Given the description of an element on the screen output the (x, y) to click on. 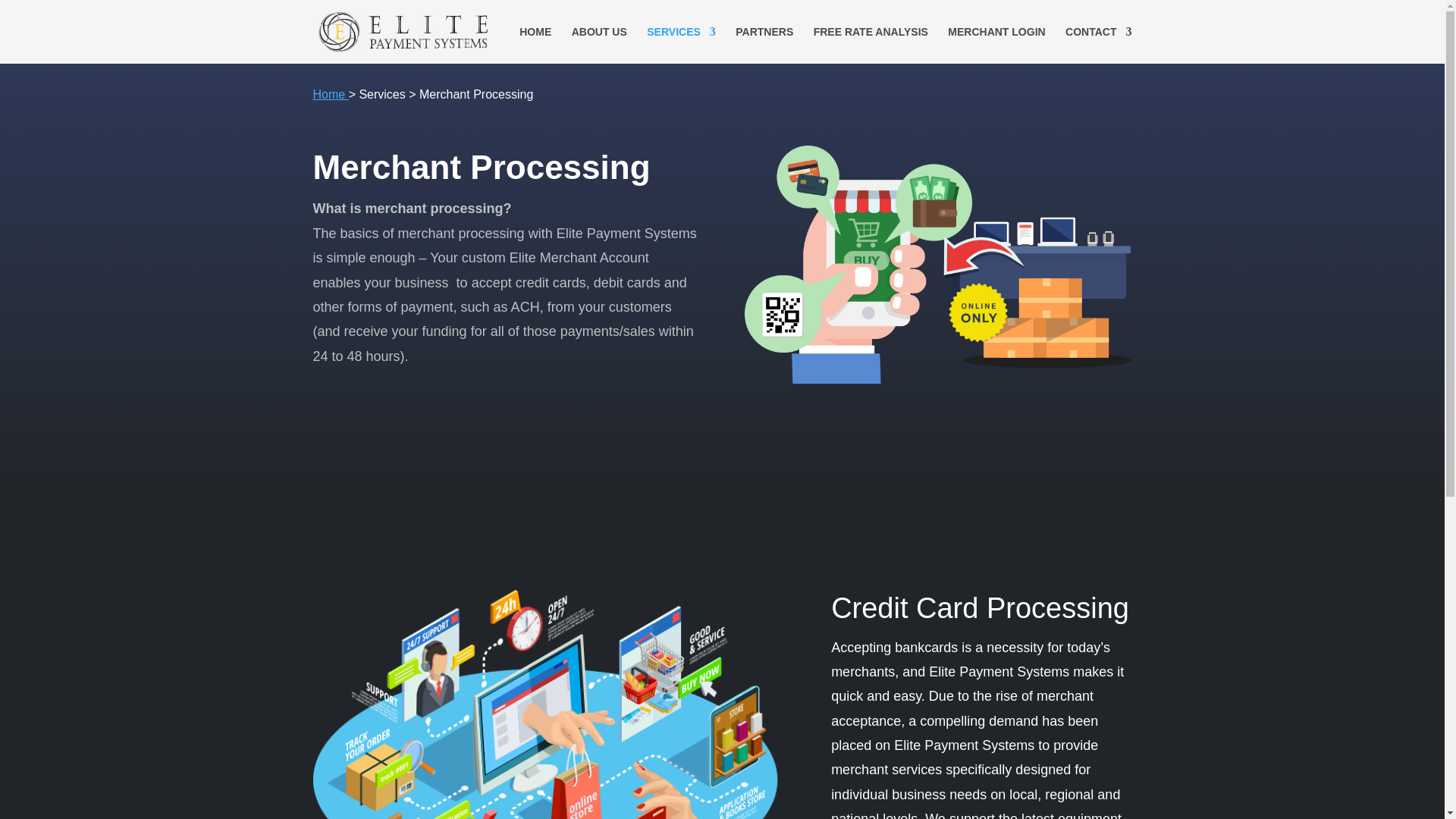
MERCHANT LOGIN (996, 44)
SERVICES (681, 44)
CONTACT (1098, 44)
merchant-processing-01 (937, 264)
ABOUT US (599, 44)
PARTNERS (764, 44)
cc-processing-01 (549, 704)
FREE RATE ANALYSIS (870, 44)
Home (330, 93)
